Given the description of an element on the screen output the (x, y) to click on. 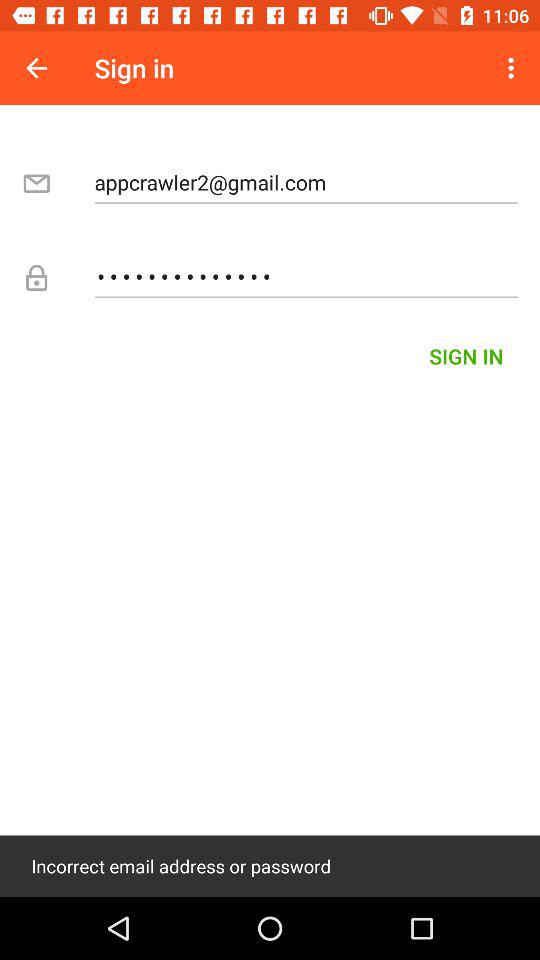
turn on the item at the top right corner (513, 67)
